Given the description of an element on the screen output the (x, y) to click on. 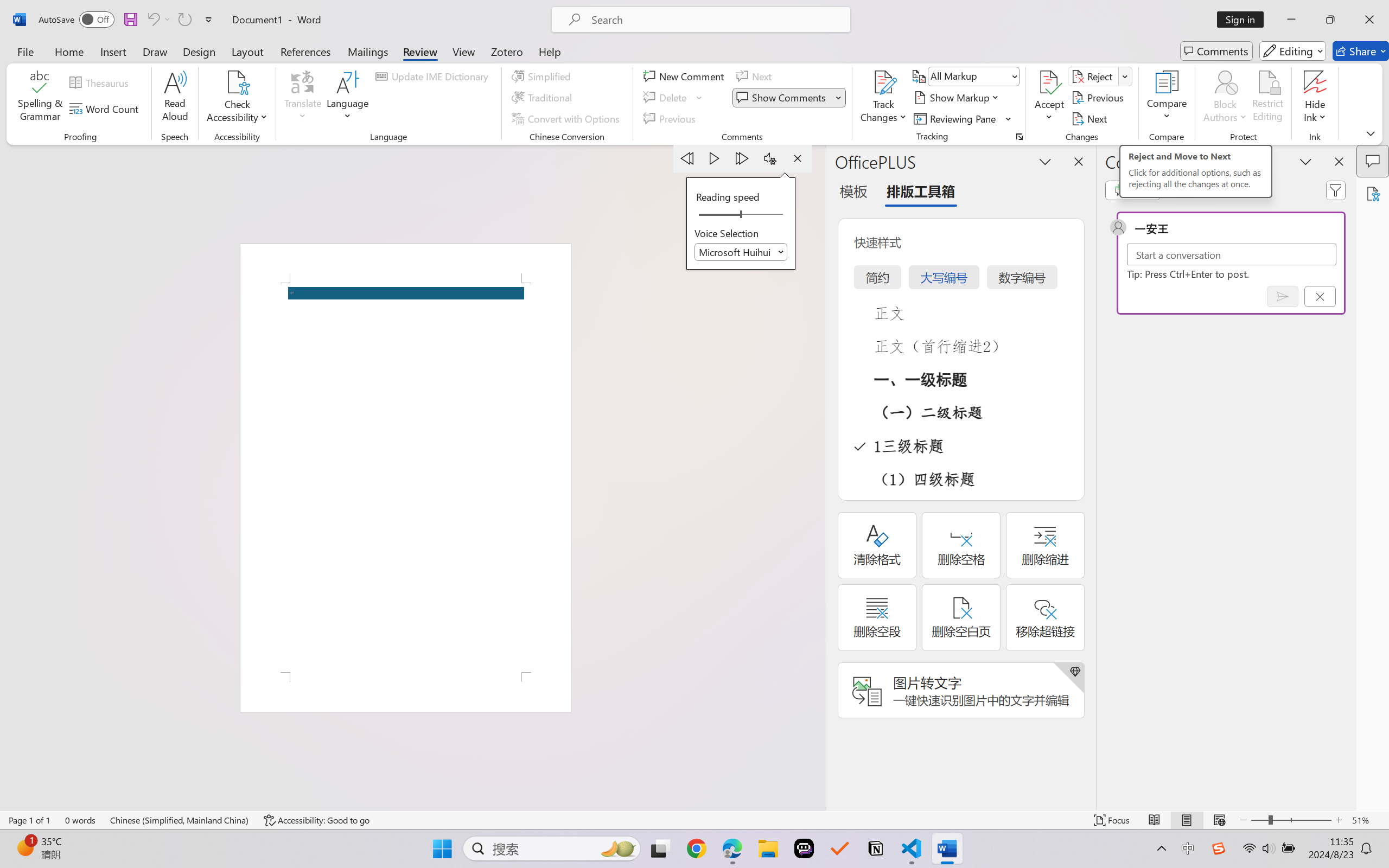
Stop (797, 158)
Restrict Editing (1267, 97)
Play (715, 158)
Change Tracking Options... (1019, 136)
Check Accessibility (237, 81)
Sign in (1244, 19)
Show Comments (788, 97)
